Given the description of an element on the screen output the (x, y) to click on. 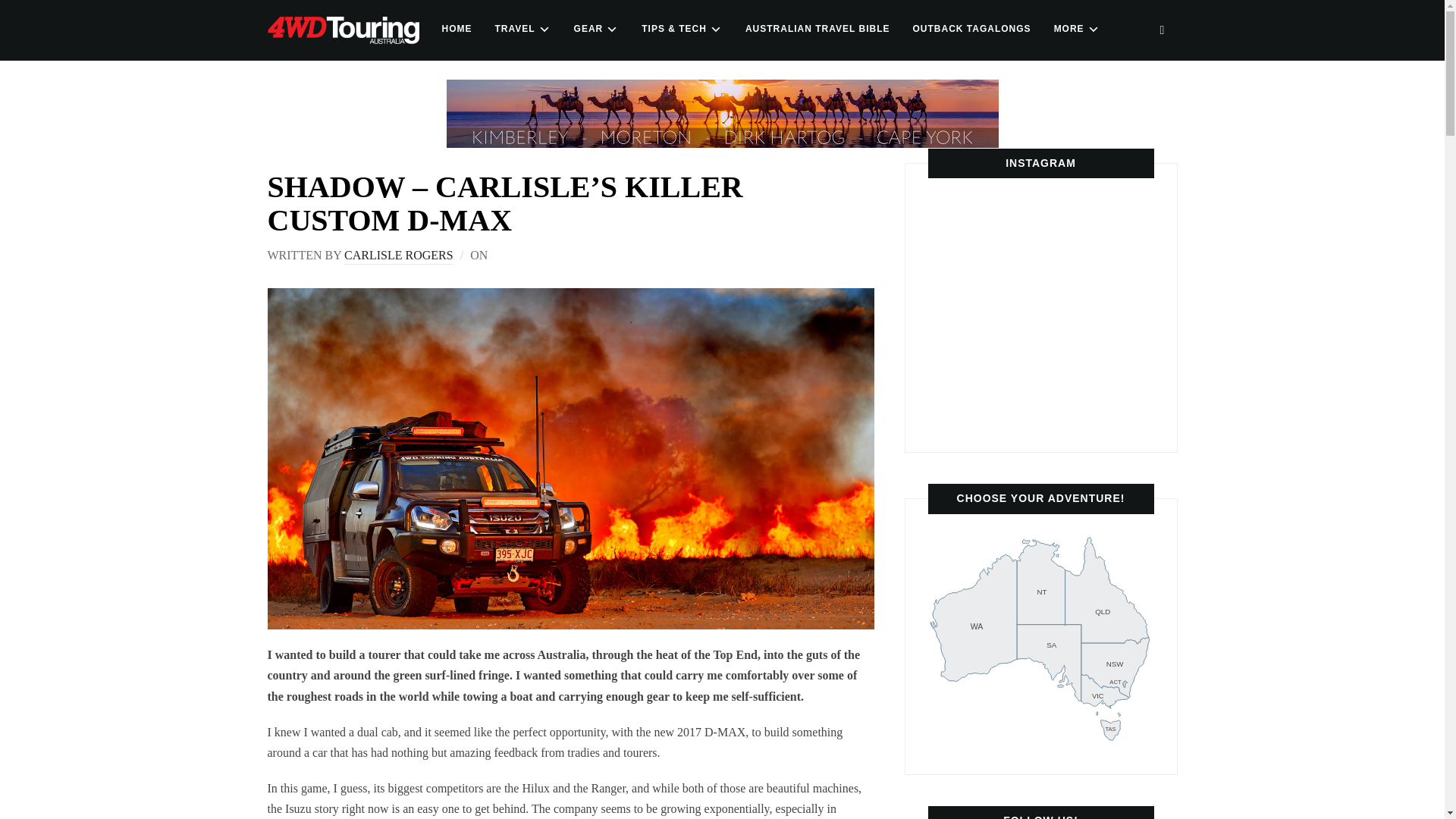
GEAR (1041, 639)
When the devil drives, needs must. (596, 28)
HOME (962, 308)
Posts by Carlisle Rogers (456, 28)
Sunshine and rainbows (397, 256)
TRAVEL (962, 386)
